Given the description of an element on the screen output the (x, y) to click on. 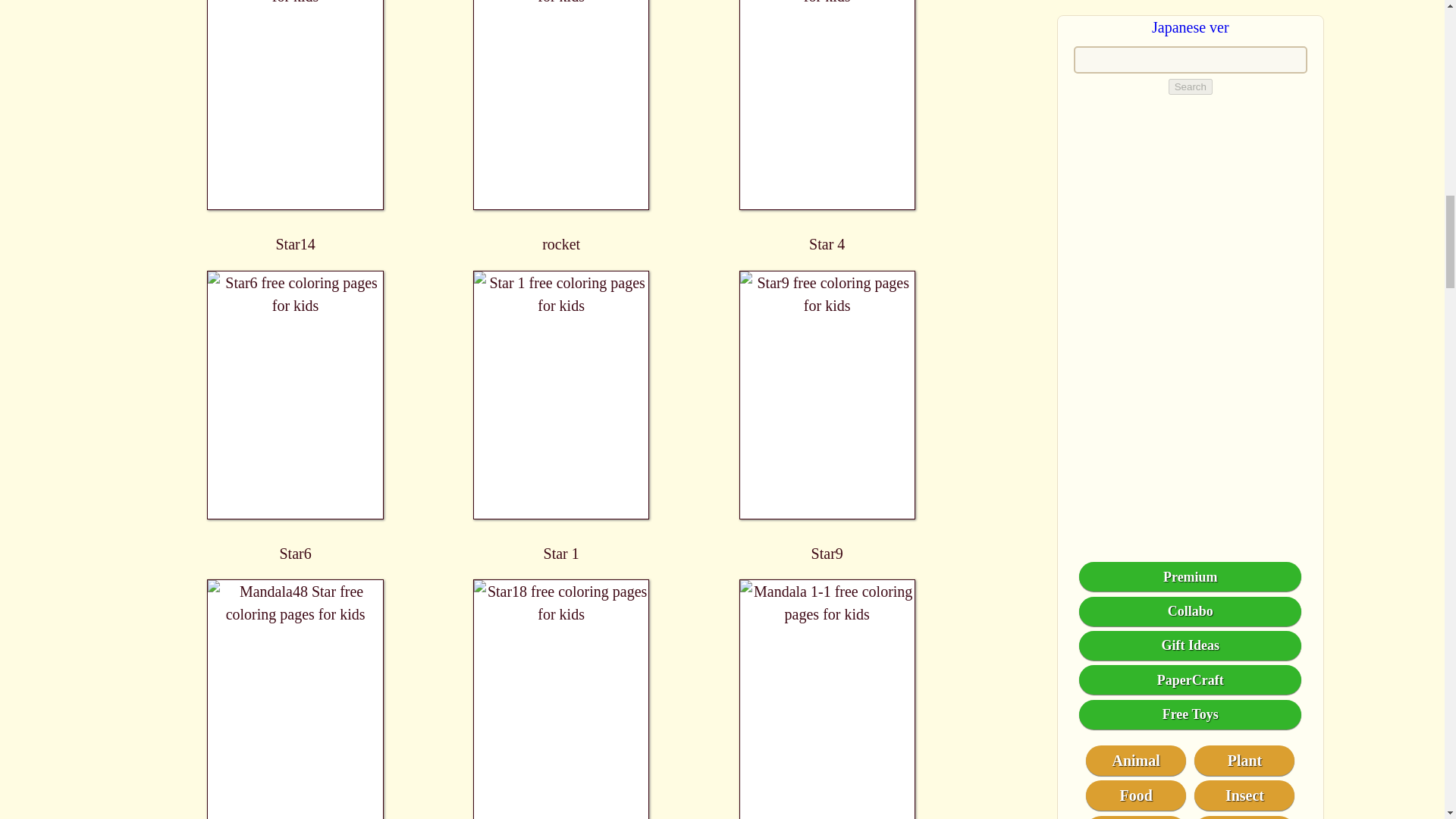
Star14 (295, 126)
Mandala48 Star (295, 699)
Star18 (561, 699)
rocket (561, 126)
Star 4 (826, 126)
Mandala 1-1 (826, 699)
